Given the description of an element on the screen output the (x, y) to click on. 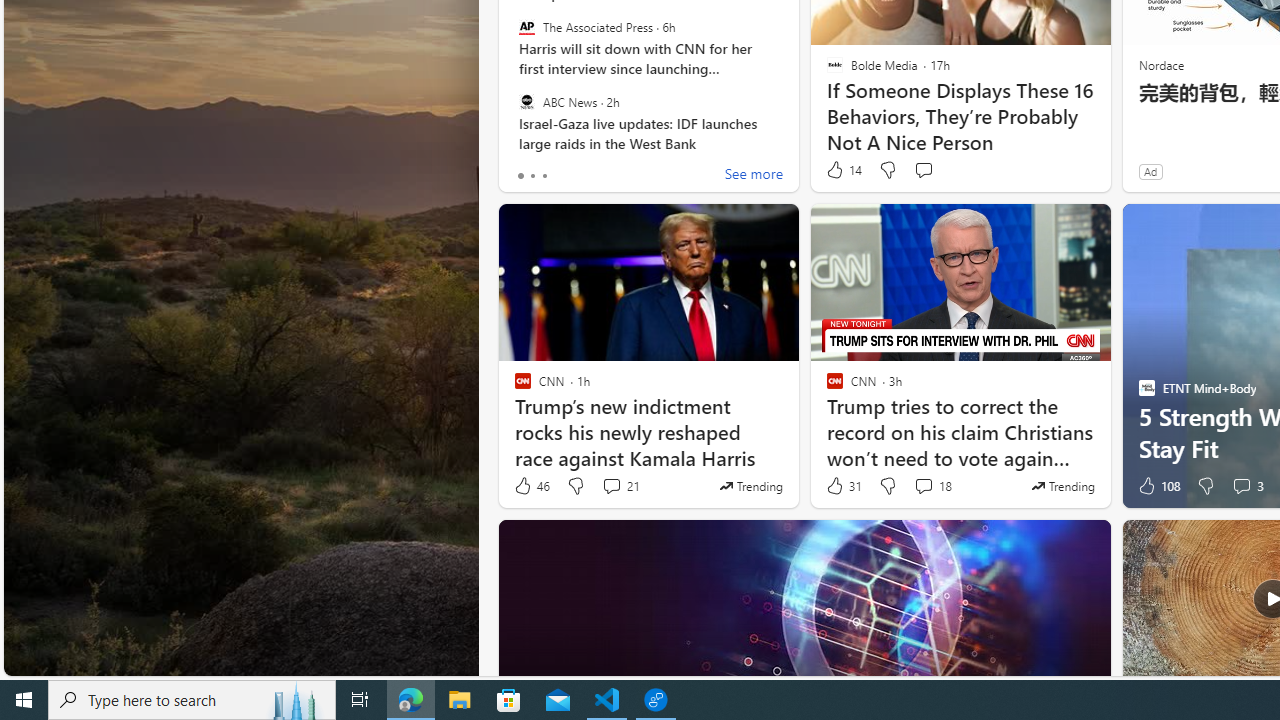
Start the conversation (923, 169)
View comments 21 Comment (619, 485)
Nordace (1160, 64)
Dislike (1204, 485)
tab-1 (532, 175)
View comments 3 Comment (1241, 485)
Ad (1150, 171)
View comments 3 Comment (1247, 485)
The Associated Press (526, 27)
Start the conversation (923, 170)
108 Like (1157, 485)
14 Like (843, 170)
ABC News (526, 101)
tab-0 (520, 175)
